Given the description of an element on the screen output the (x, y) to click on. 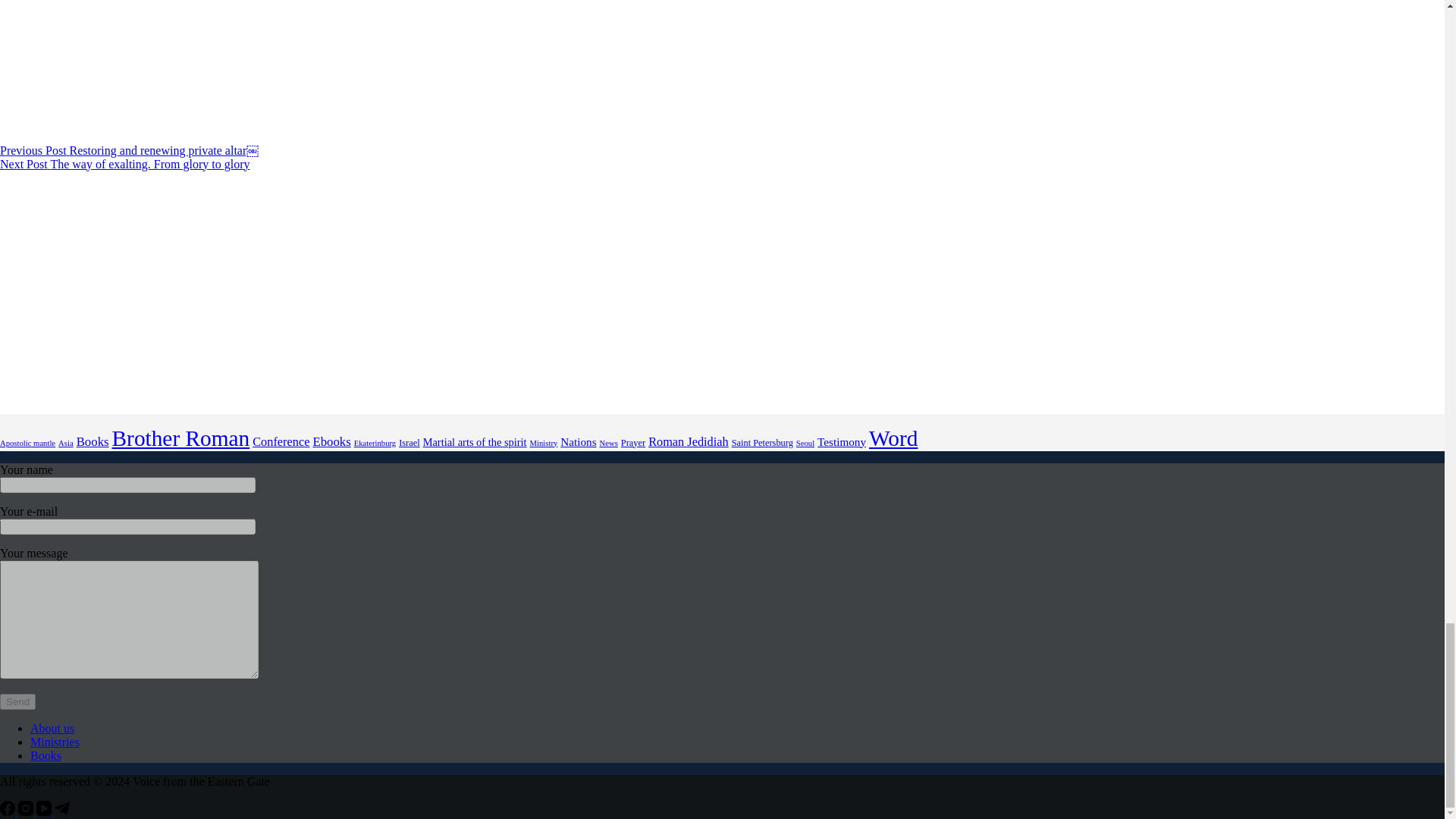
Send (17, 701)
